Given the description of an element on the screen output the (x, y) to click on. 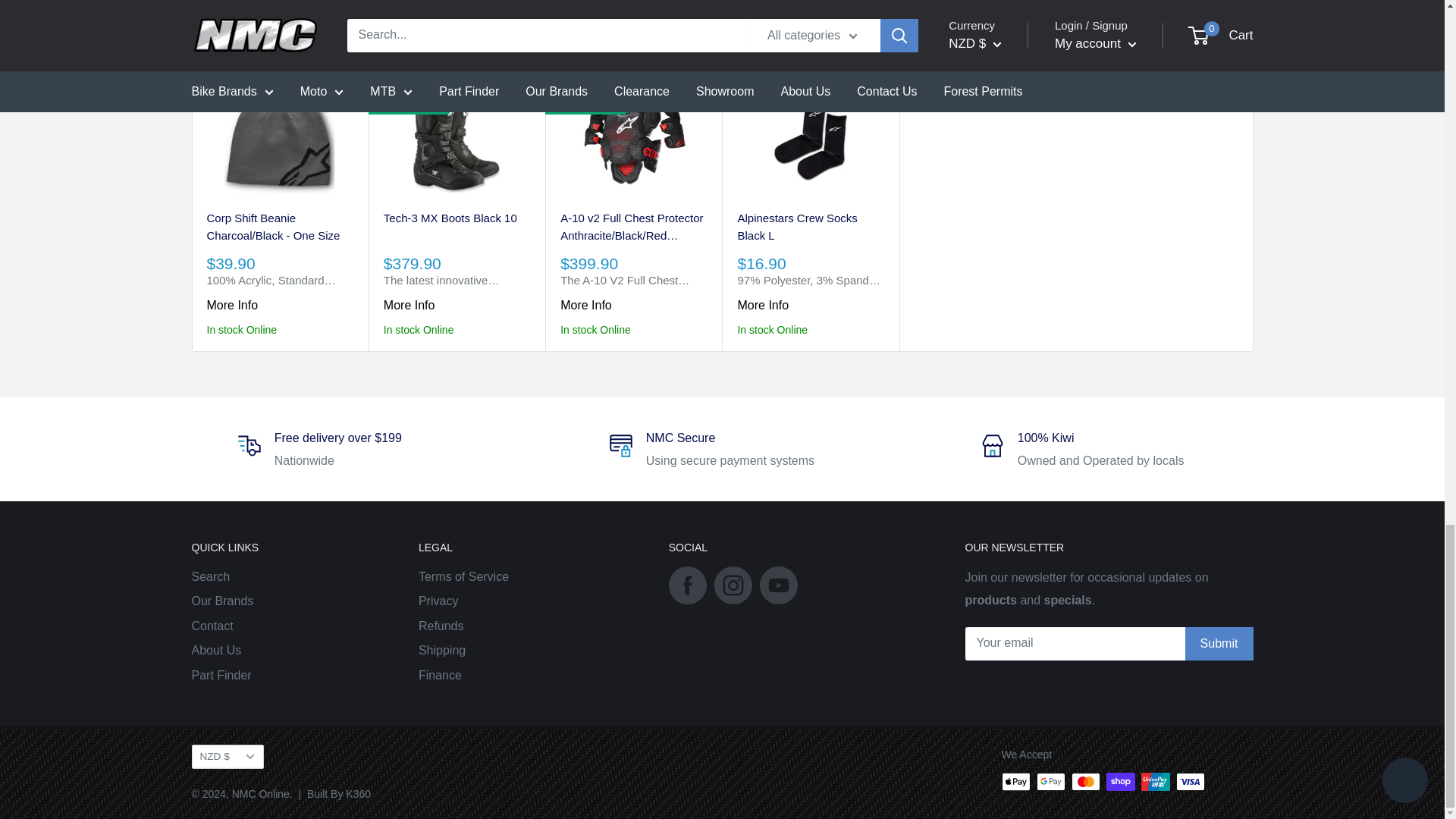
Tech-3 MX Boots Black 10 (456, 228)
Alpinestars Crew Socks Black L (809, 228)
